Given the description of an element on the screen output the (x, y) to click on. 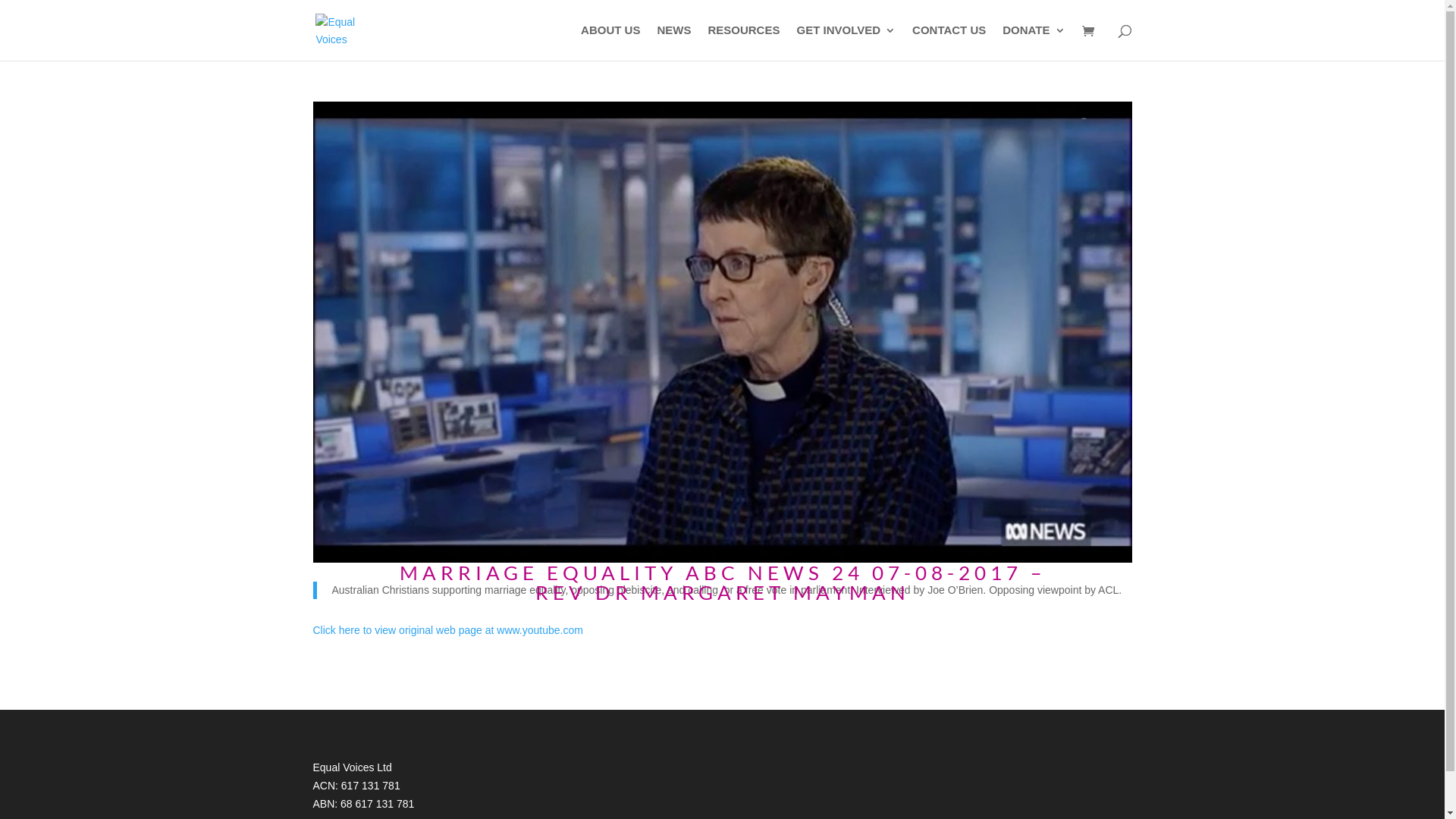
RESOURCES Element type: text (743, 42)
NEWS Element type: text (673, 42)
DONATE Element type: text (1033, 42)
CONTACT US Element type: text (948, 42)
Click here to view original web page at www.youtube.com Element type: text (447, 630)
GET INVOLVED Element type: text (845, 42)
ABOUT US Element type: text (610, 42)
